Given the description of an element on the screen output the (x, y) to click on. 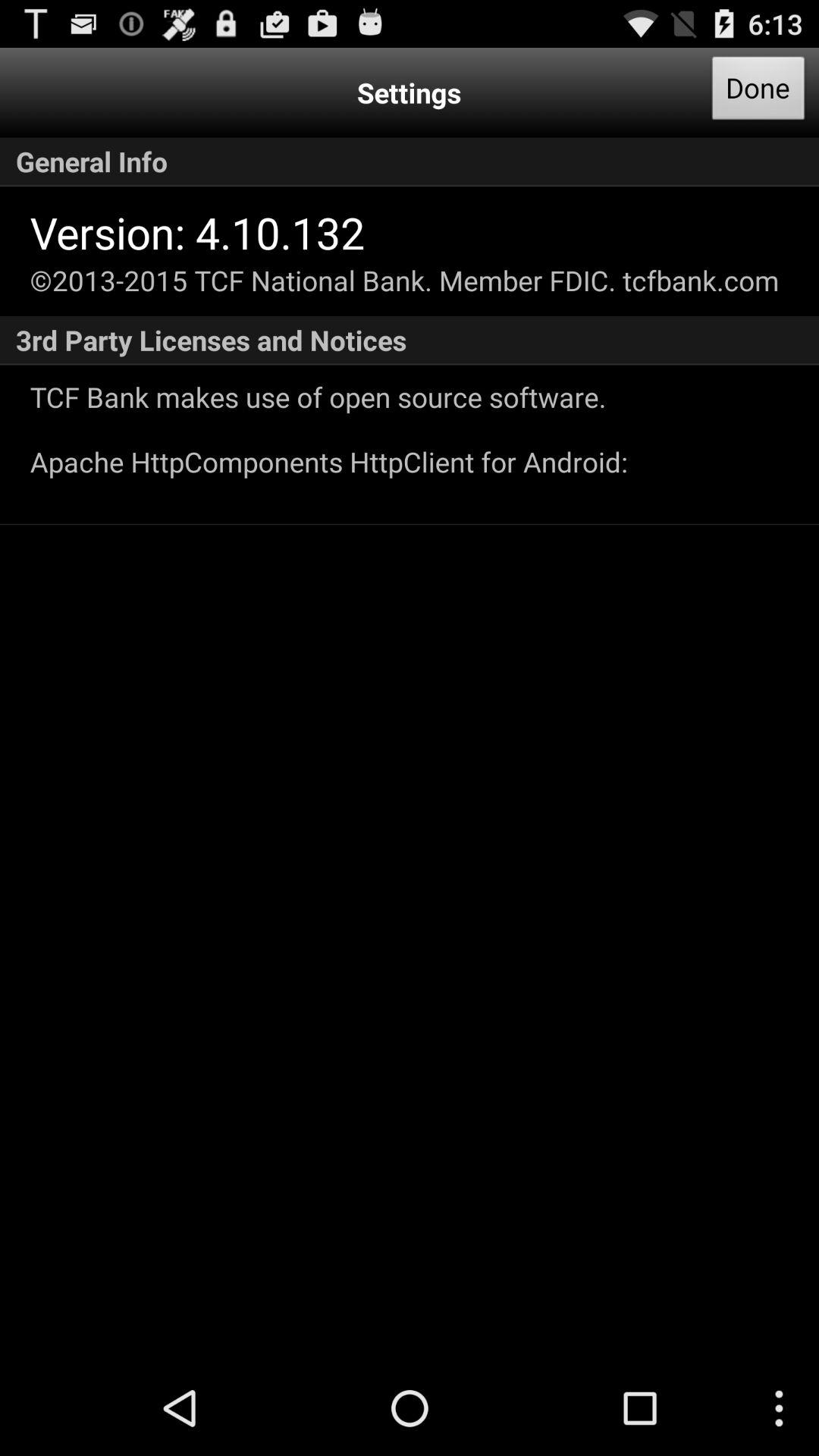
open the 2013 2015 tcf item (404, 280)
